Given the description of an element on the screen output the (x, y) to click on. 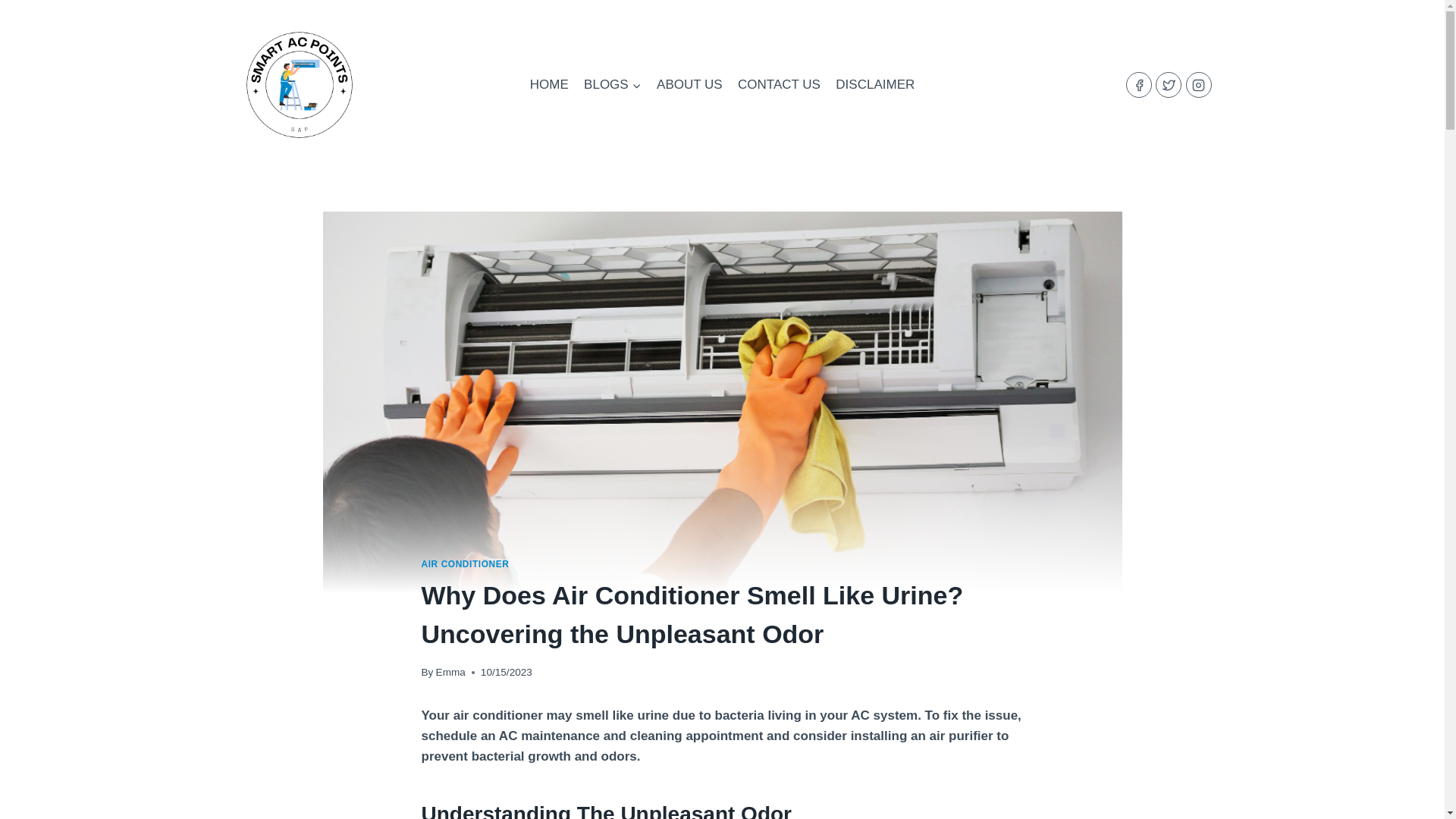
Emma (450, 672)
DISCLAIMER (874, 84)
BLOGS (612, 84)
ABOUT US (689, 84)
AIR CONDITIONER (465, 563)
HOME (549, 84)
CONTACT US (779, 84)
